Given the description of an element on the screen output the (x, y) to click on. 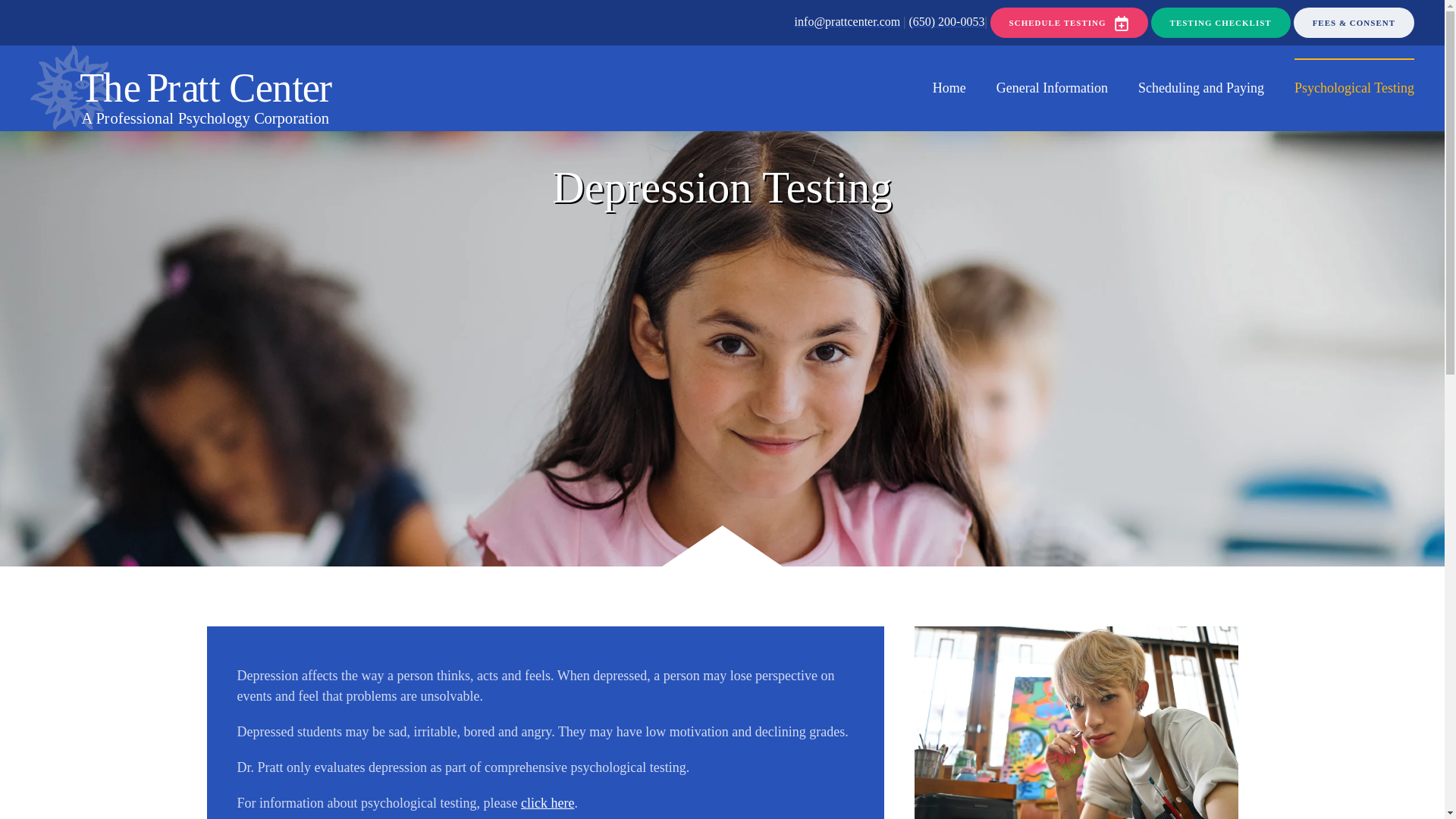
Scheduling and Paying (1200, 88)
General Information (1051, 88)
TESTING CHECKLIST (1220, 22)
SCHEDULE TESTING (1069, 22)
